Given the description of an element on the screen output the (x, y) to click on. 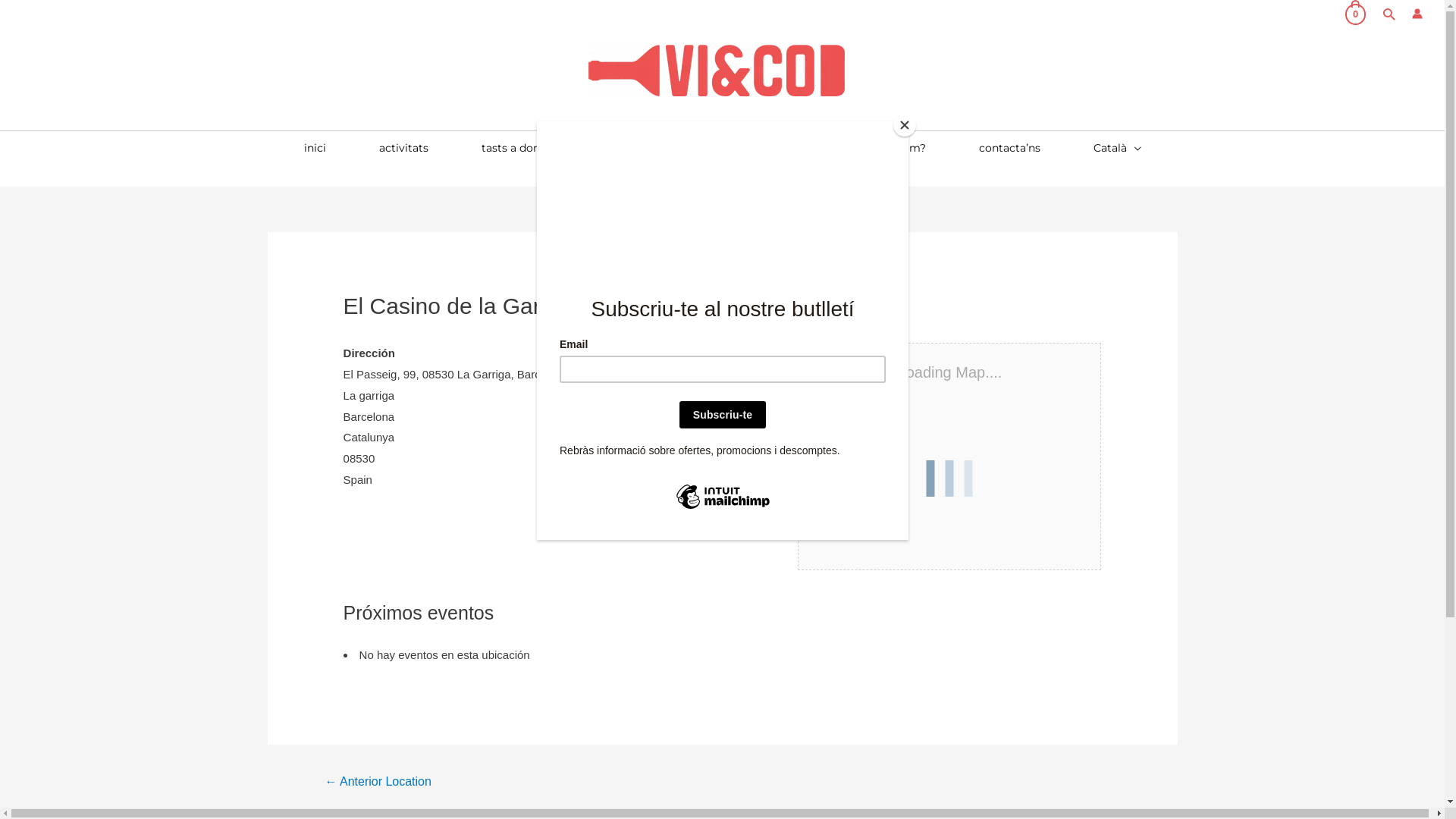
Cerca Element type: text (38, 15)
tasts a domicili Element type: text (522, 147)
compte Element type: text (724, 147)
0 Element type: text (1355, 12)
blog Element type: text (811, 147)
inici Element type: text (314, 147)
serveis Element type: text (632, 147)
qui som? Element type: text (901, 147)
activitats Element type: text (402, 147)
